Given the description of an element on the screen output the (x, y) to click on. 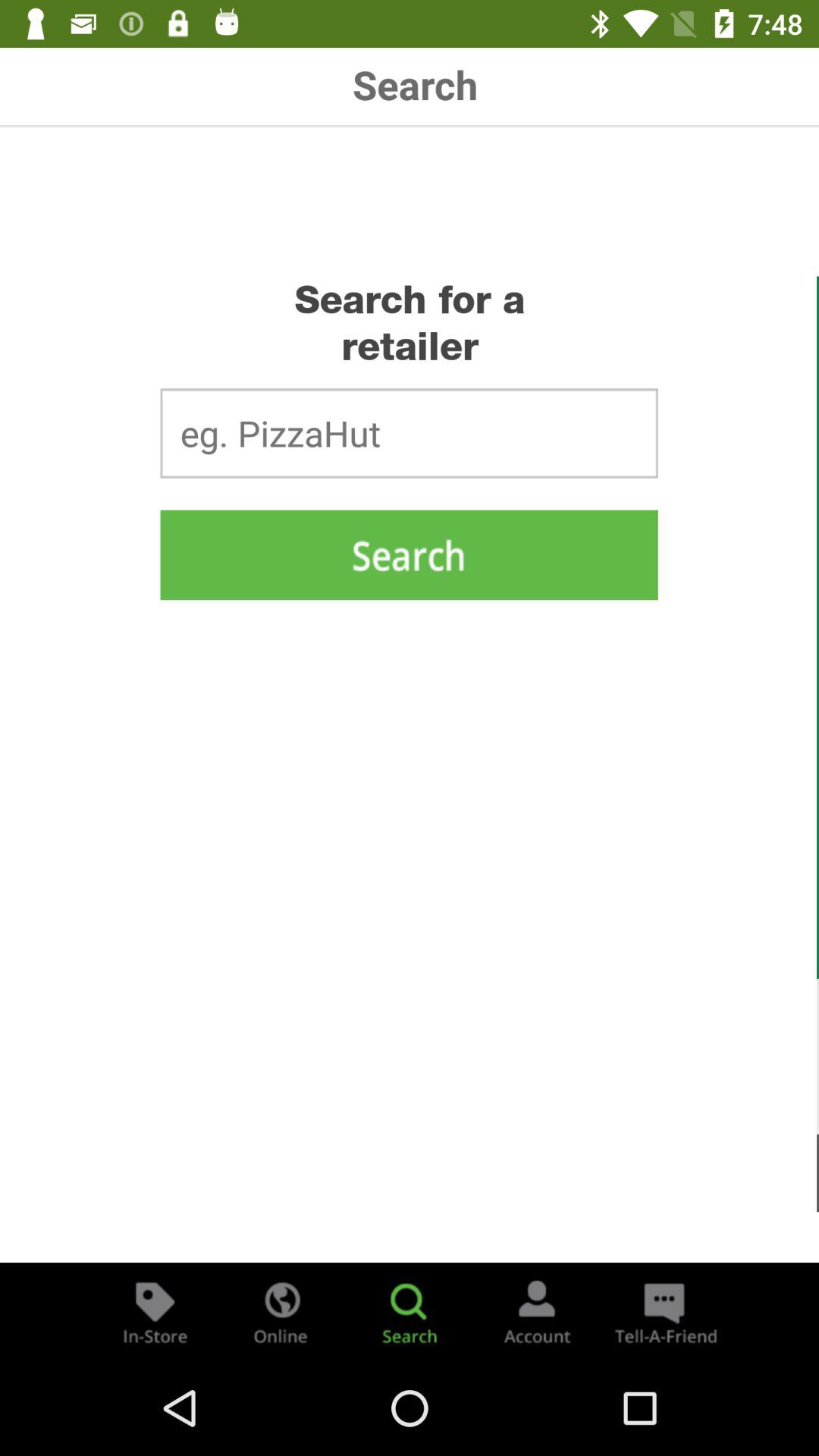
store button (154, 1311)
